Given the description of an element on the screen output the (x, y) to click on. 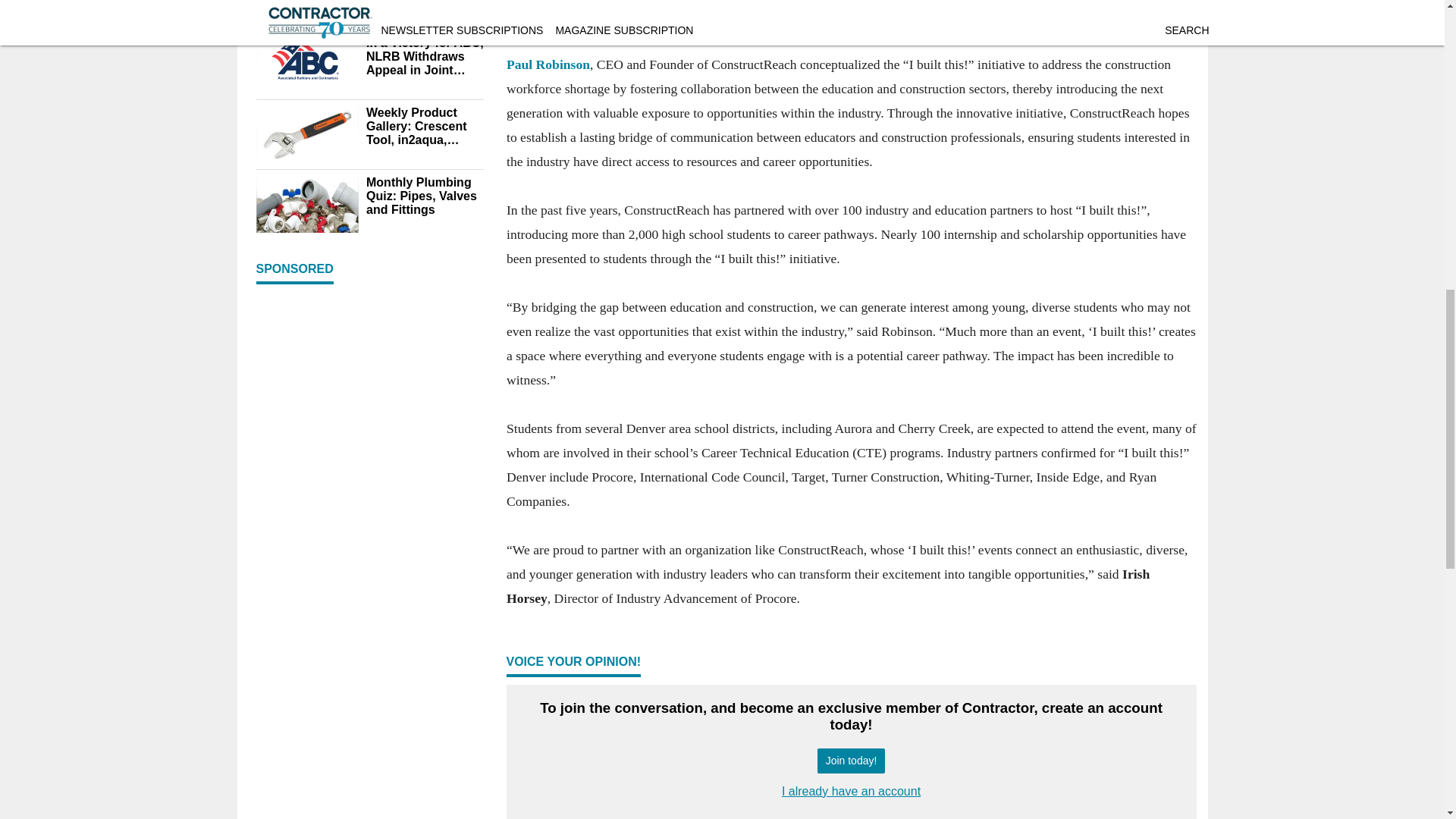
I already have an account (850, 790)
Join today! (850, 760)
Paul Robinson (547, 64)
Monthly Plumbing Quiz: Pipes, Valves and Fittings (424, 196)
